Given the description of an element on the screen output the (x, y) to click on. 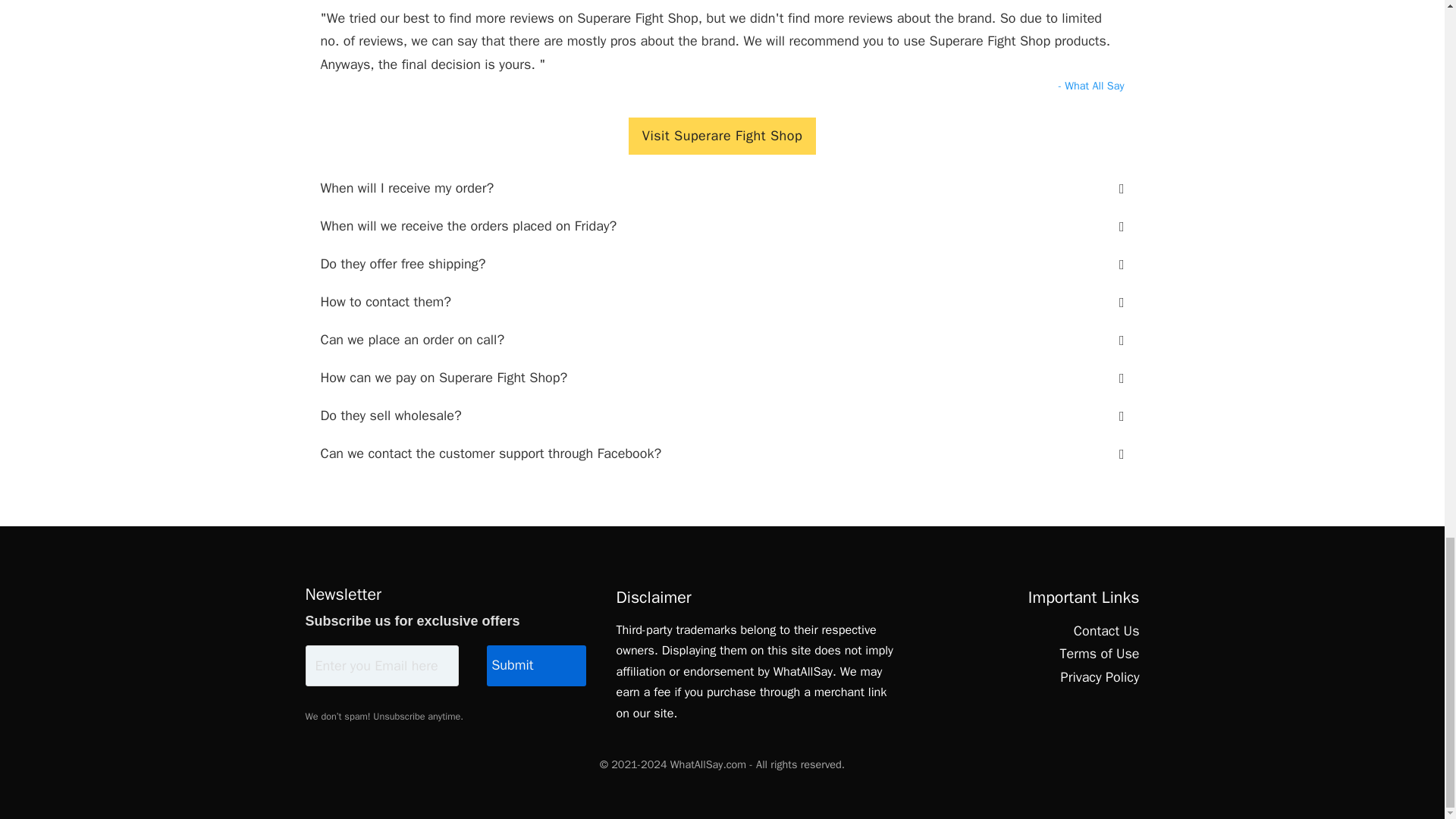
Submit (535, 665)
Terms of Use (1098, 653)
Privacy Policy (1098, 677)
Visit Superare Fight Shop (721, 135)
Contact Us (1098, 630)
Submit (535, 665)
